Given the description of an element on the screen output the (x, y) to click on. 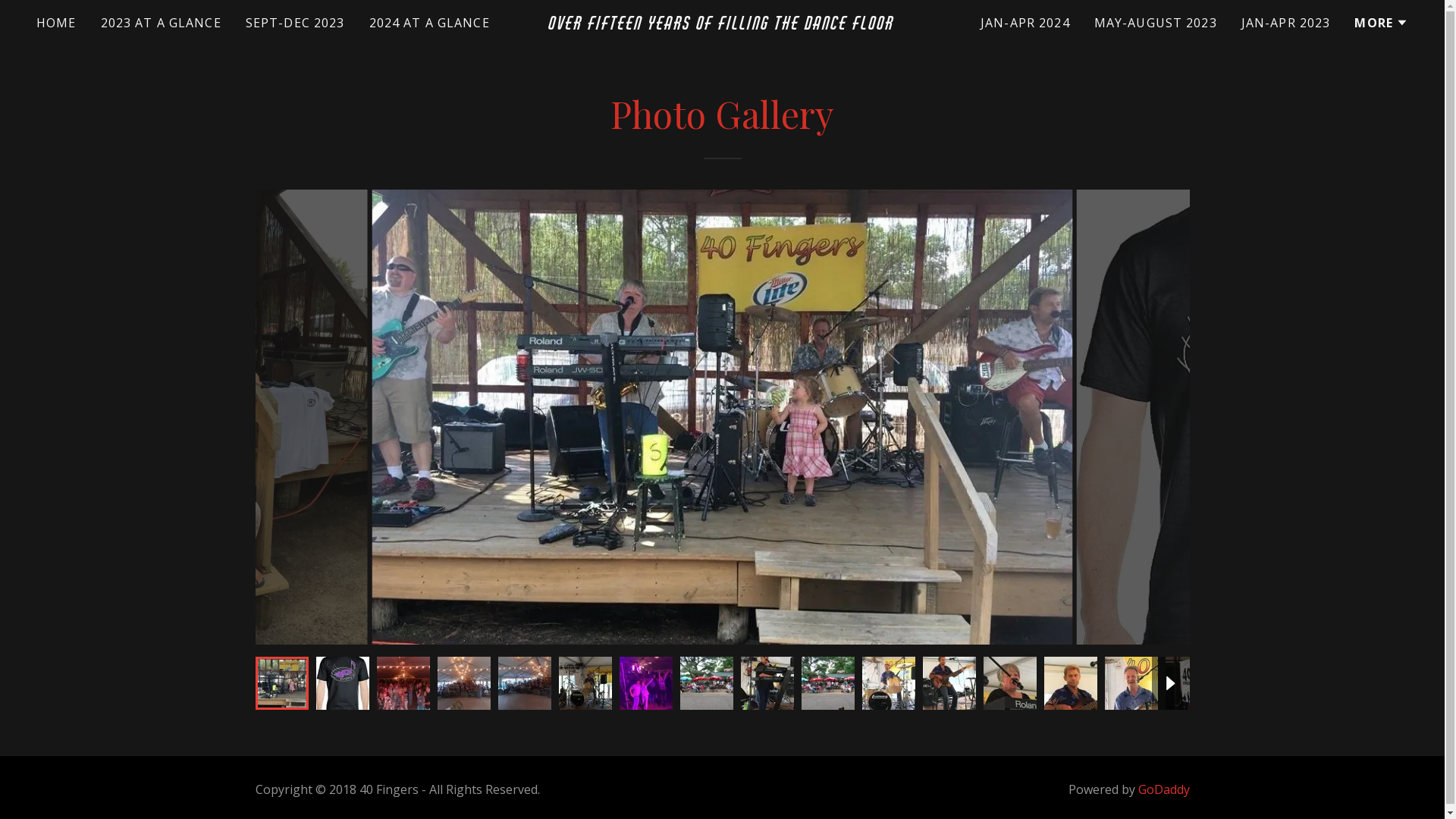
MORE Element type: text (1381, 22)
2024 AT A GLANCE Element type: text (429, 22)
JAN-APR 2023 Element type: text (1285, 22)
GoDaddy Element type: text (1163, 789)
MAY-AUGUST 2023 Element type: text (1155, 22)
JAN-APR 2024 Element type: text (1024, 22)
HOME Element type: text (56, 22)
SEPT-DEC 2023 Element type: text (295, 22)
OVER FIFTEEN YEARS OF FILLING THE DANCE FLOOR Element type: text (721, 24)
2023 AT A GLANCE Element type: text (160, 22)
